Given the description of an element on the screen output the (x, y) to click on. 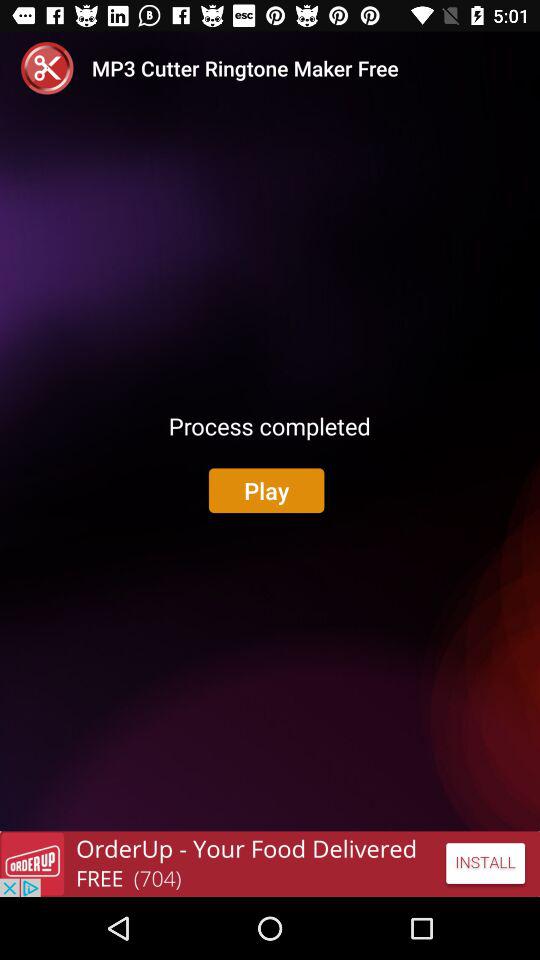
install the app (270, 864)
